Given the description of an element on the screen output the (x, y) to click on. 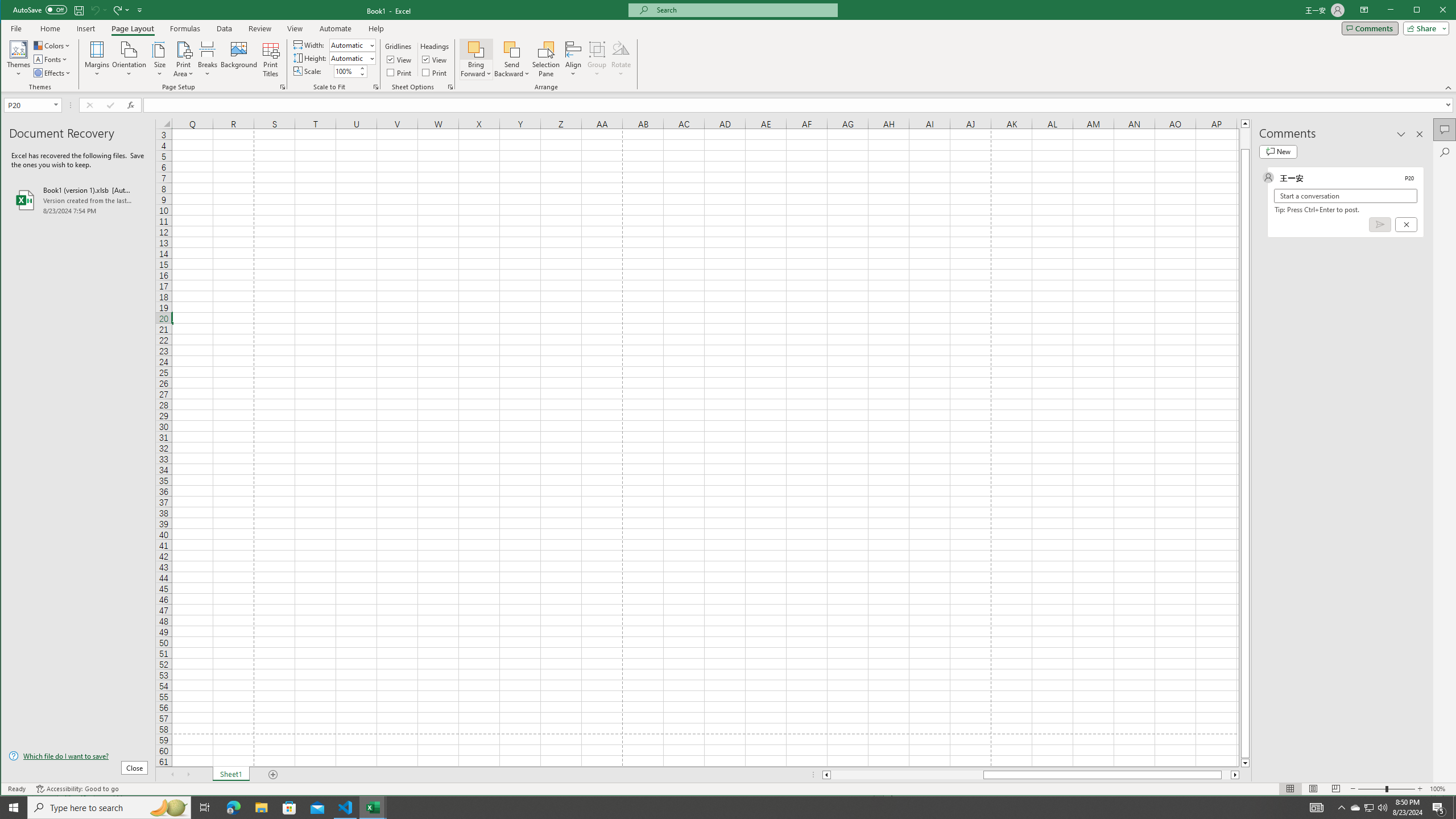
Which file do I want to save? (78, 755)
Show desktop (1454, 807)
Task Pane Options (1400, 133)
Start a conversation (1344, 195)
Print Area (183, 59)
Breaks (207, 59)
Microsoft Store (289, 807)
Rotate (620, 59)
Less (361, 73)
Sheet Options (449, 86)
